Given the description of an element on the screen output the (x, y) to click on. 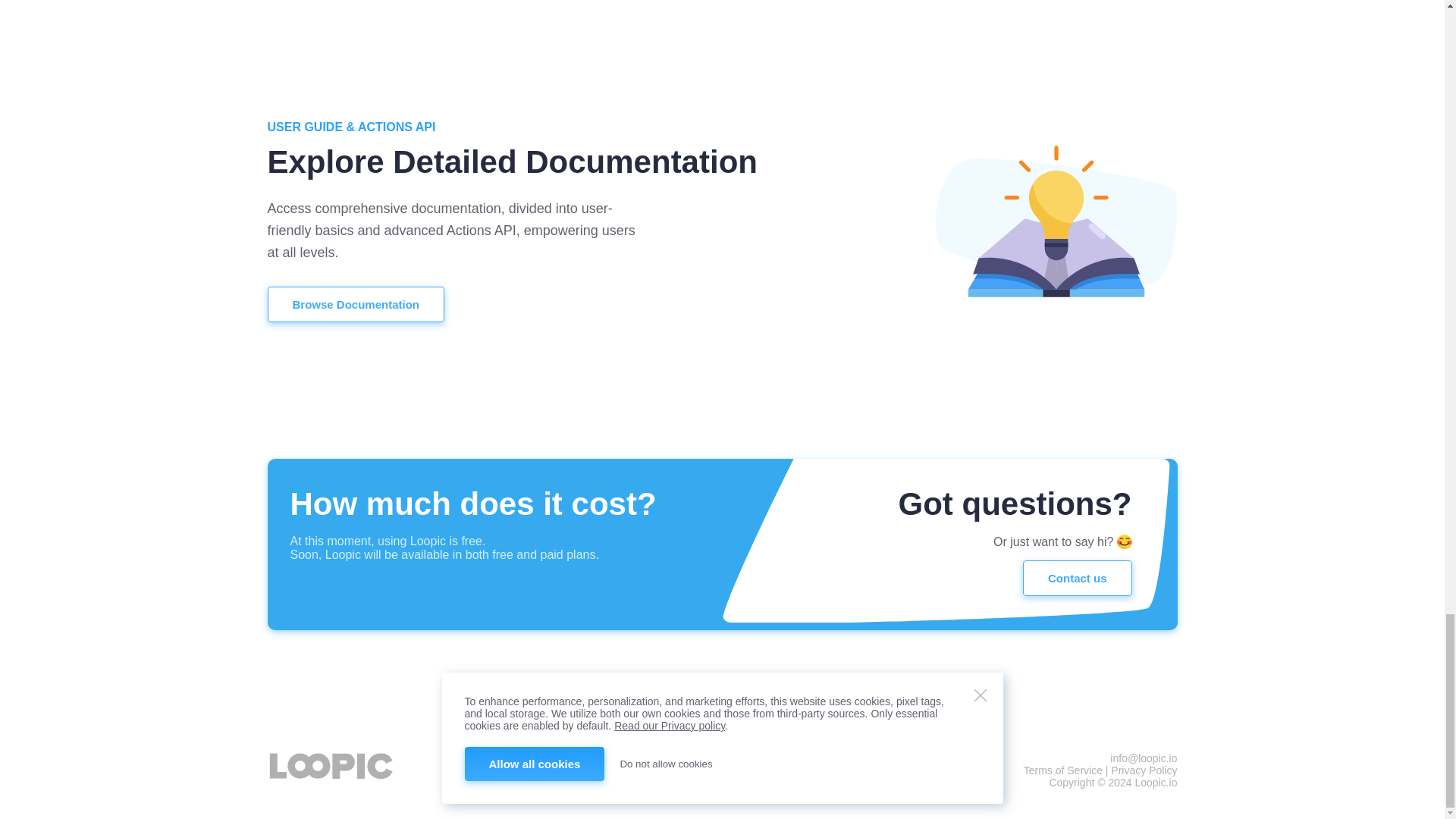
LinkedIn page (723, 776)
Facebook page (693, 776)
Privacy Policy (1143, 770)
Terms of Service (1062, 770)
Browse Documentation (355, 304)
Contact us (1077, 578)
